Given the description of an element on the screen output the (x, y) to click on. 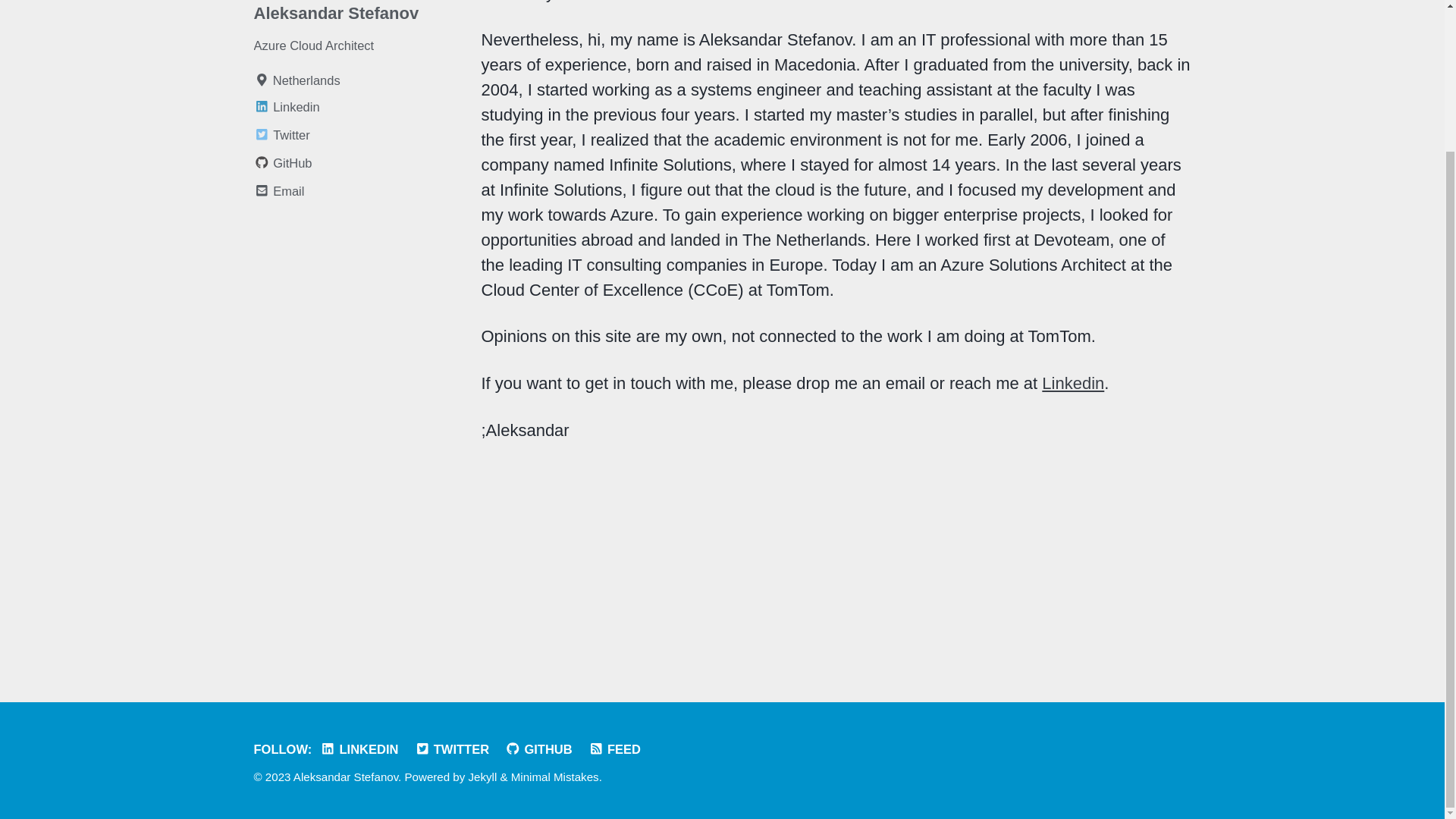
GITHUB (542, 748)
TWITTER (455, 748)
Linkedin (1072, 383)
Jekyll (482, 776)
GitHub (358, 163)
LINKEDIN (363, 748)
Linkedin (358, 106)
Email (358, 191)
Twitter (358, 135)
Minimal Mistakes (554, 776)
FEED (617, 748)
